Given the description of an element on the screen output the (x, y) to click on. 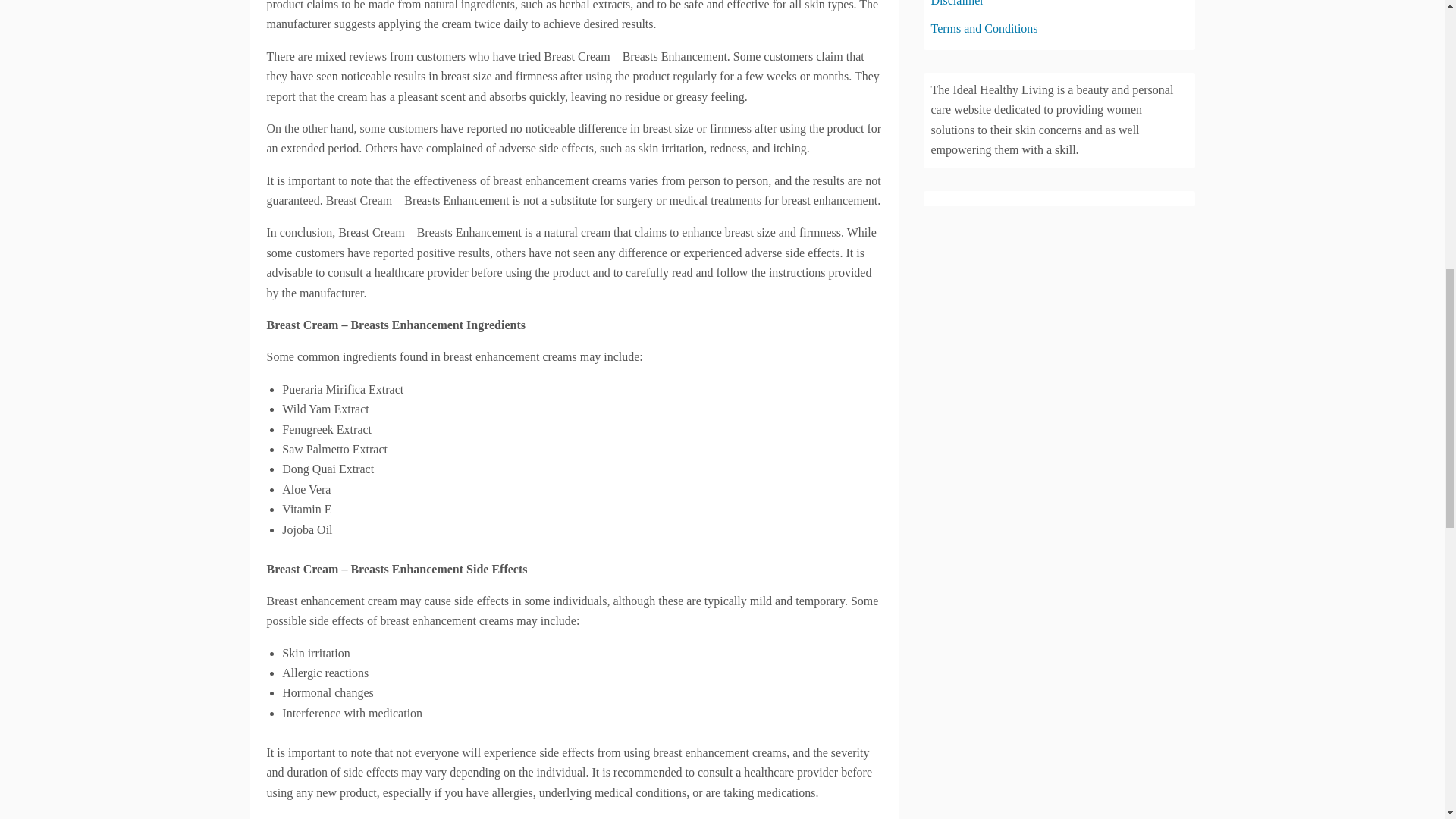
Disclaimer (957, 3)
Terms and Conditions (984, 28)
